Given the description of an element on the screen output the (x, y) to click on. 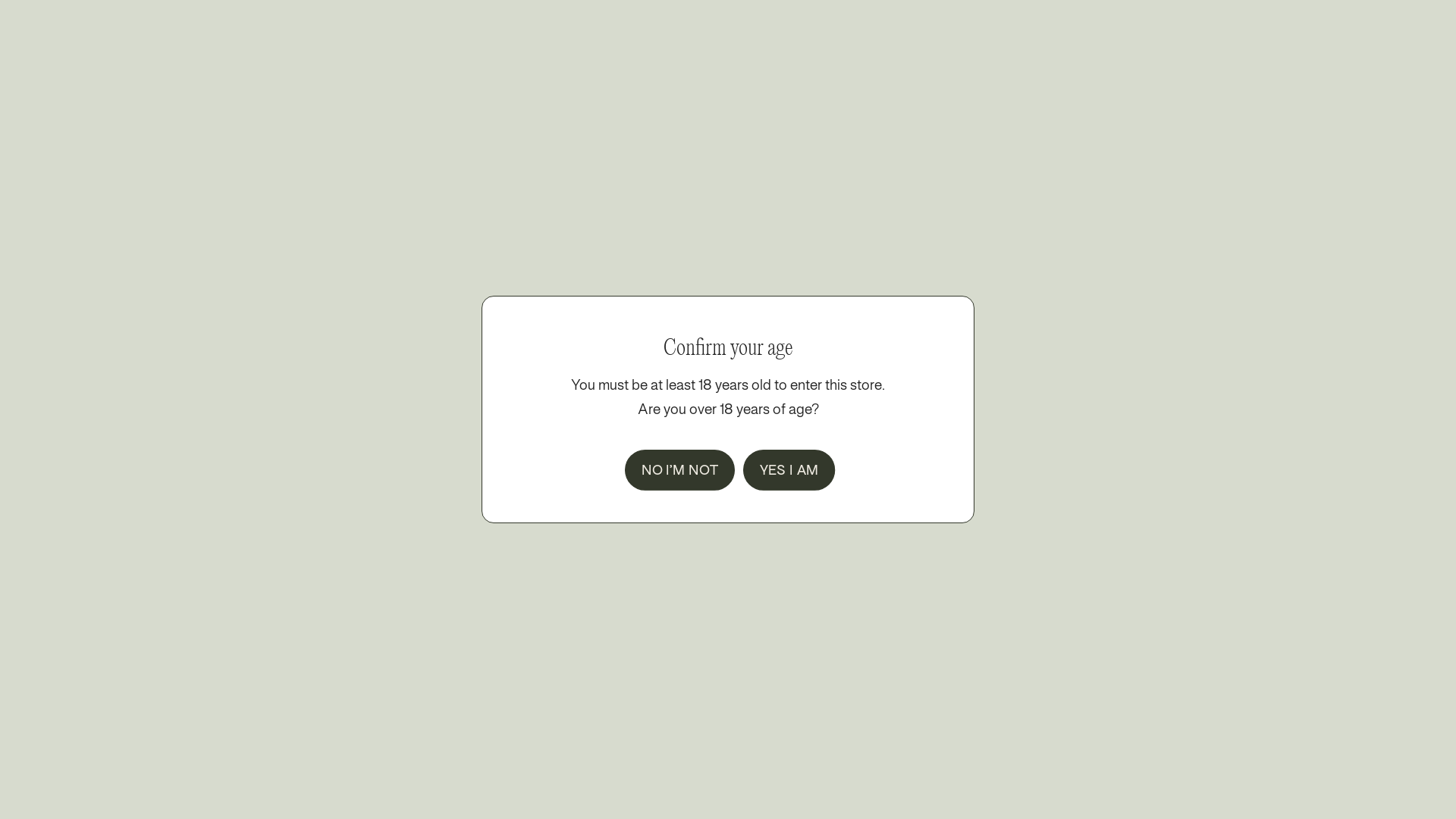
YES I AM Element type: text (779, 465)
NO I'M NOT Element type: text (668, 465)
DRINK Element type: text (292, 396)
SAVOUR Element type: text (730, 396)
GROW Element type: text (323, 120)
SOURCE Element type: text (355, 212)
